Given the description of an element on the screen output the (x, y) to click on. 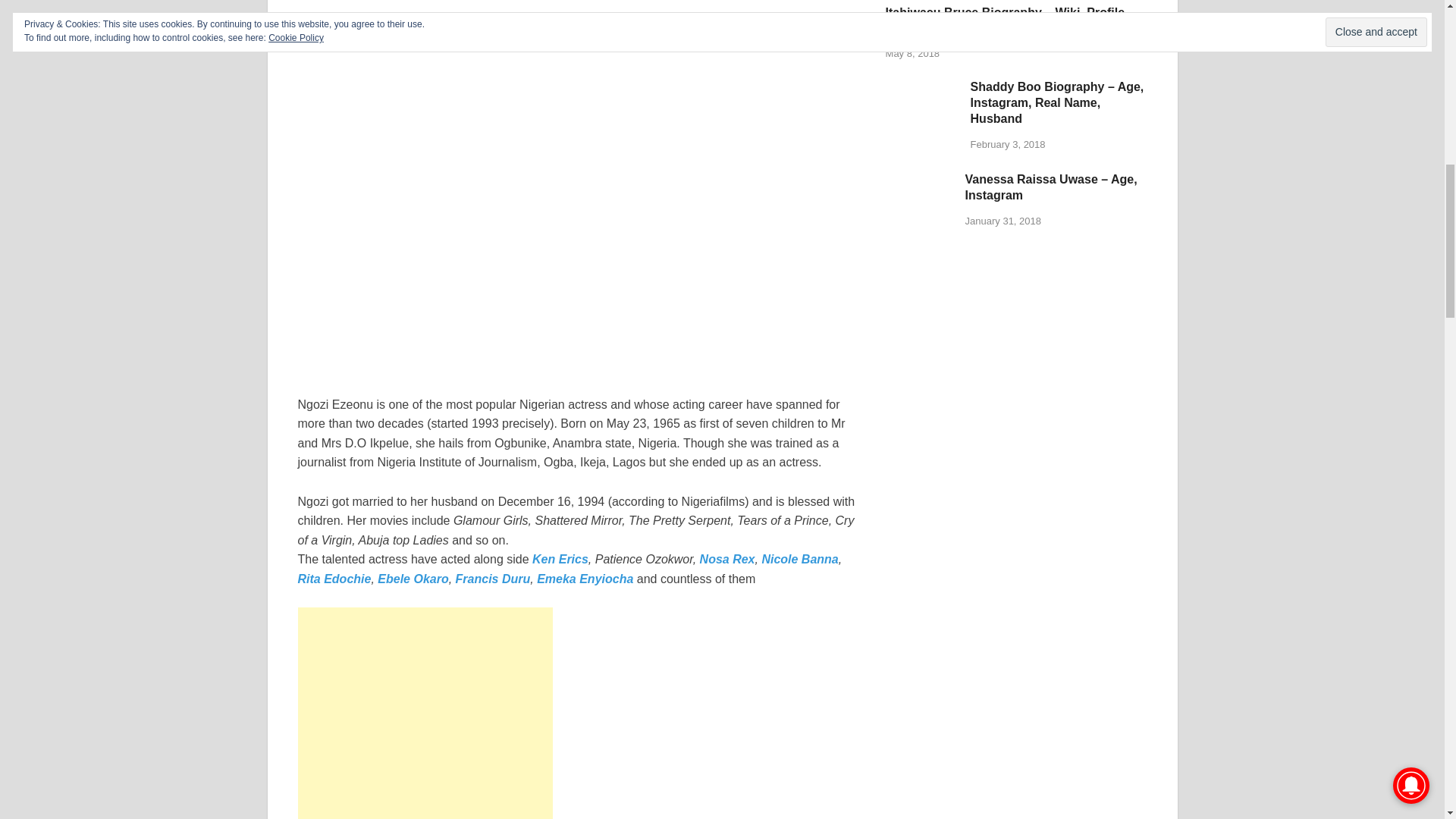
Ken Erics (560, 558)
Rita Edochie (334, 578)
Nosa Rex (727, 558)
Emeka Enyiocha (585, 578)
Nicole Banna (799, 558)
Advertisement (424, 712)
Francis Duru (493, 578)
Ebele Okaro (412, 578)
